Given the description of an element on the screen output the (x, y) to click on. 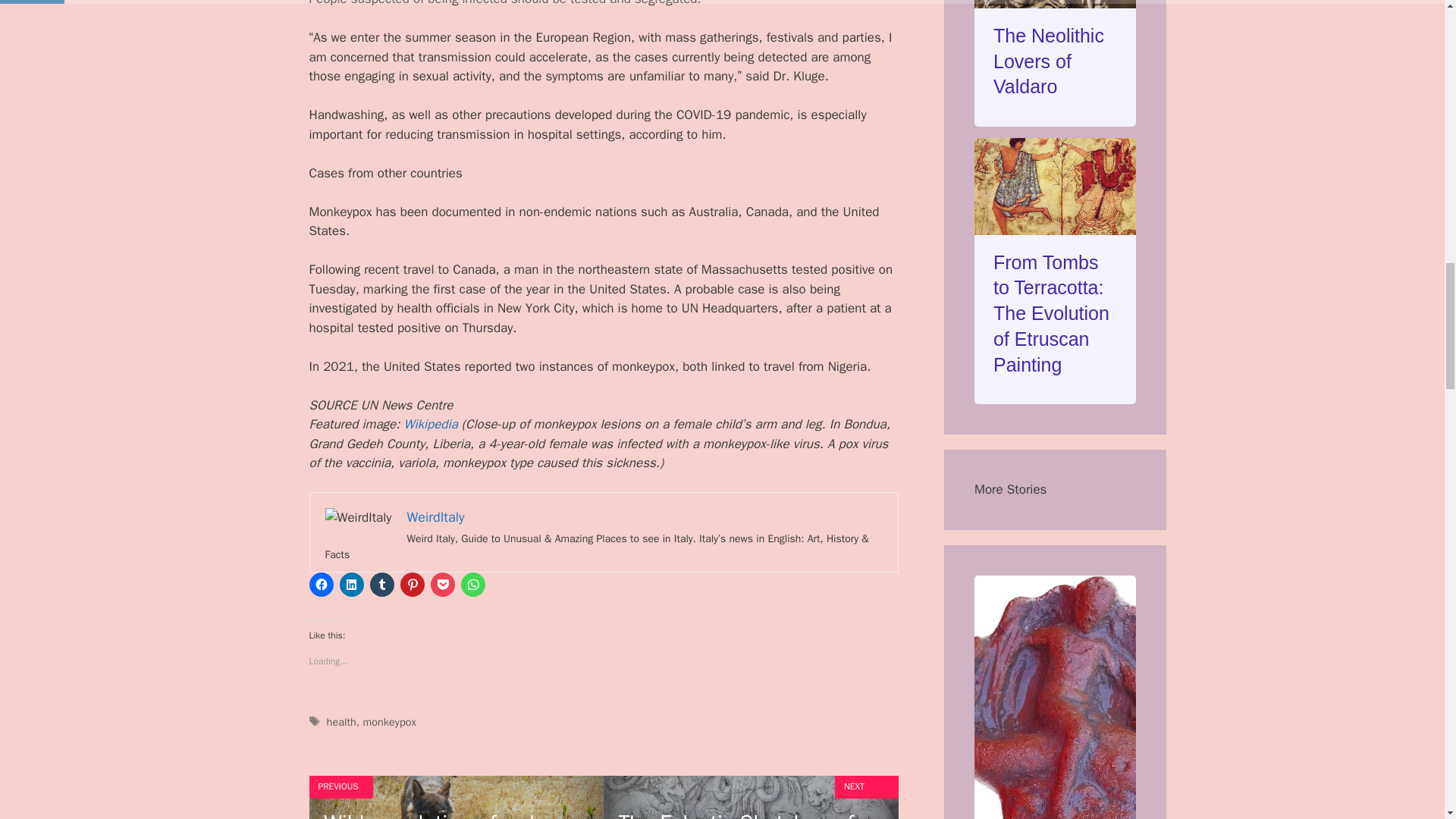
WeirdItaly (435, 516)
Wikipedia (430, 424)
